Given the description of an element on the screen output the (x, y) to click on. 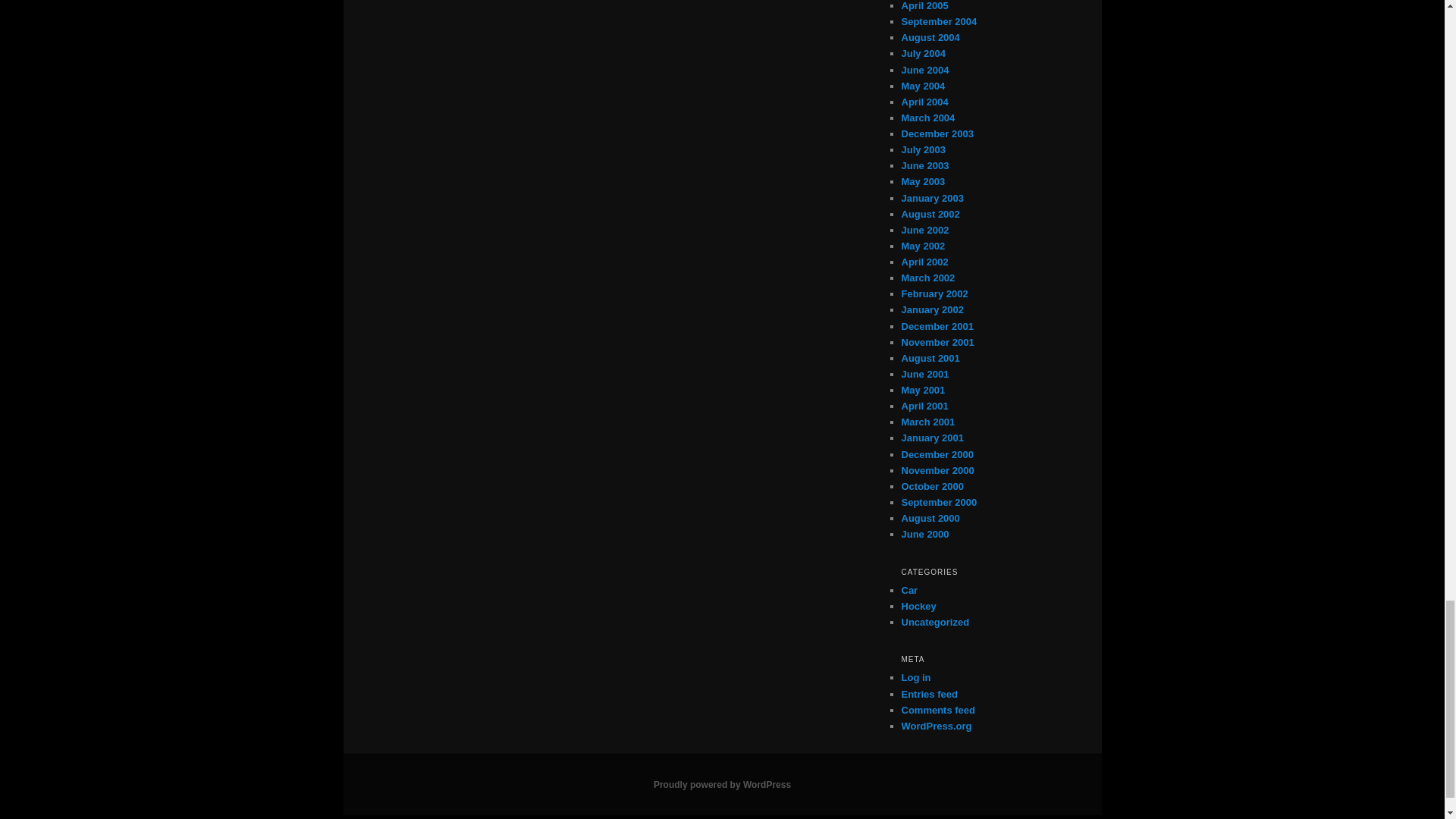
Semantic Personal Publishing Platform (721, 784)
